Given the description of an element on the screen output the (x, y) to click on. 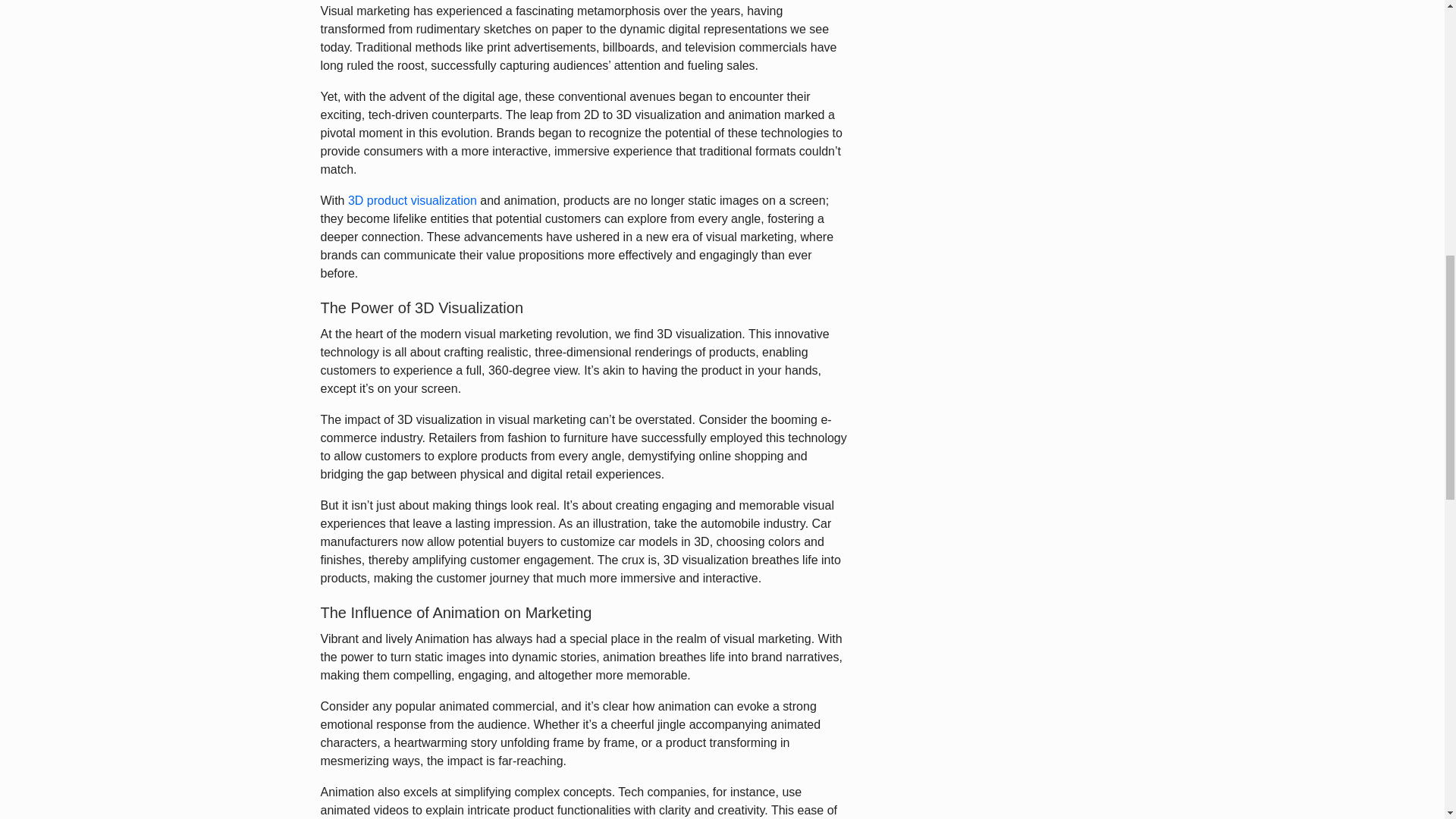
3D product visualization (412, 200)
